Given the description of an element on the screen output the (x, y) to click on. 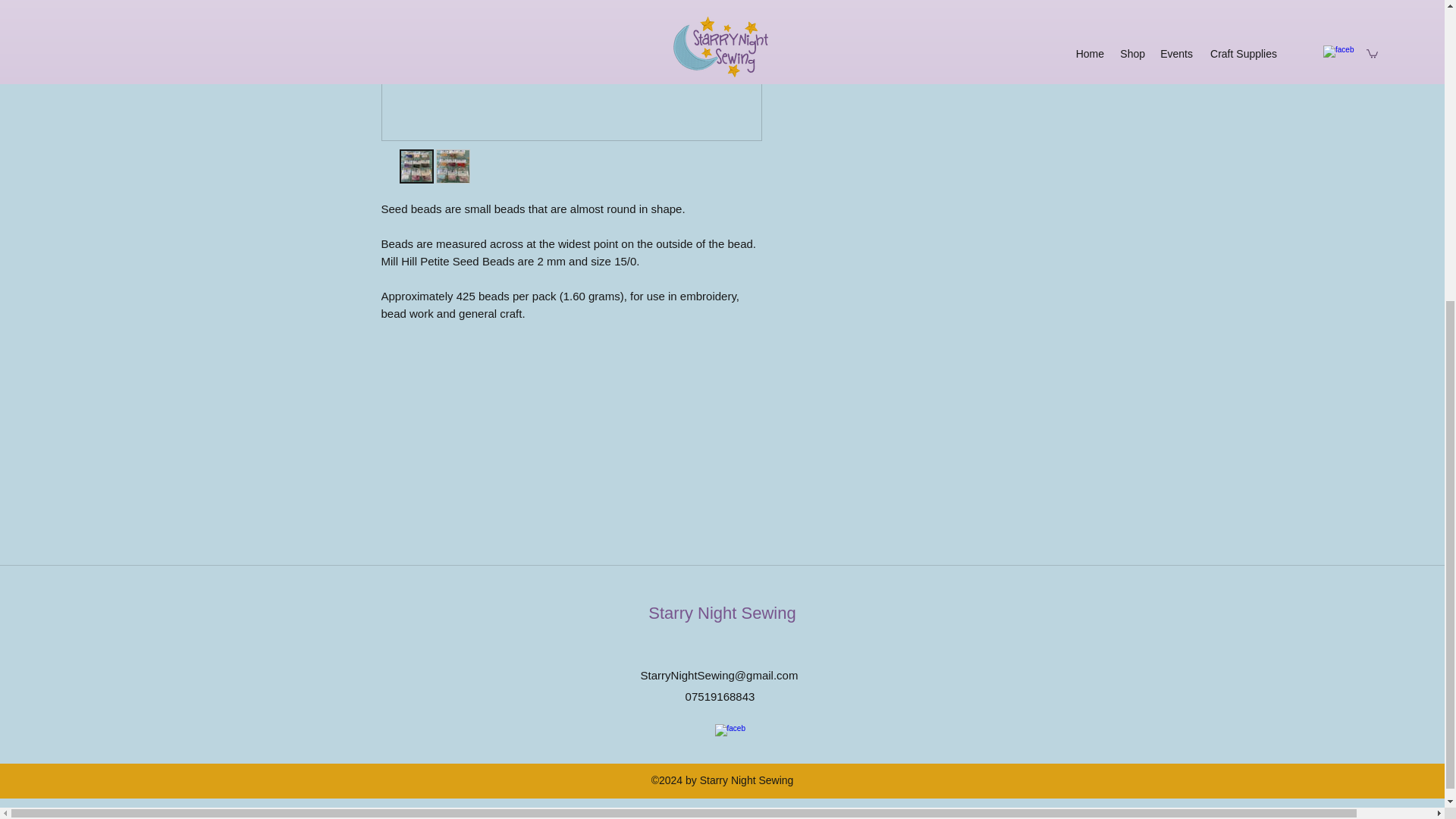
Starry Night Sewing (720, 612)
Add to Cart (922, 9)
